Given the description of an element on the screen output the (x, y) to click on. 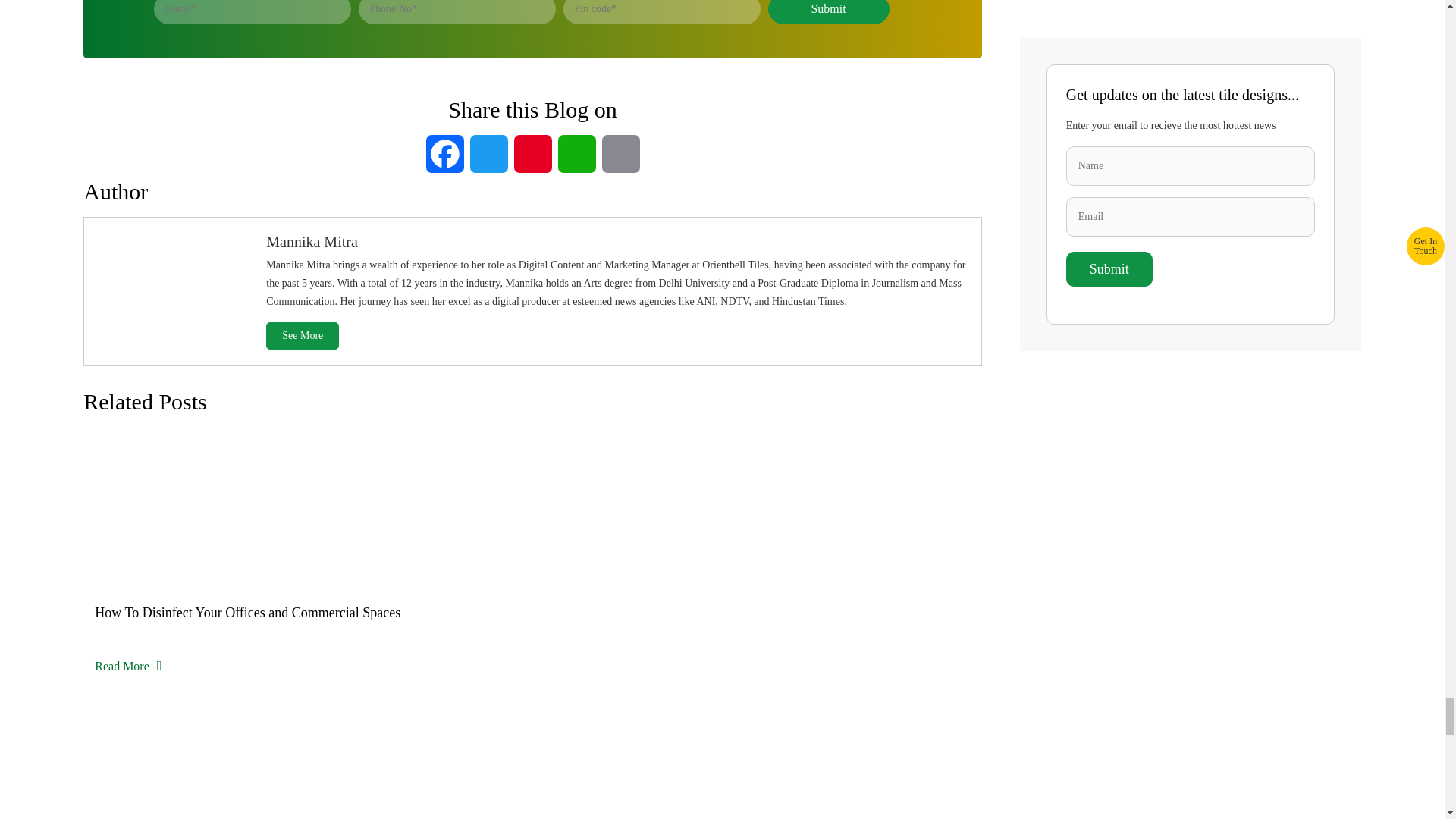
Facebook (445, 156)
Please enter only numbers (661, 12)
Twitter (489, 156)
WhatsApp (576, 156)
Pinterest (532, 156)
Copy Link (620, 156)
